Given the description of an element on the screen output the (x, y) to click on. 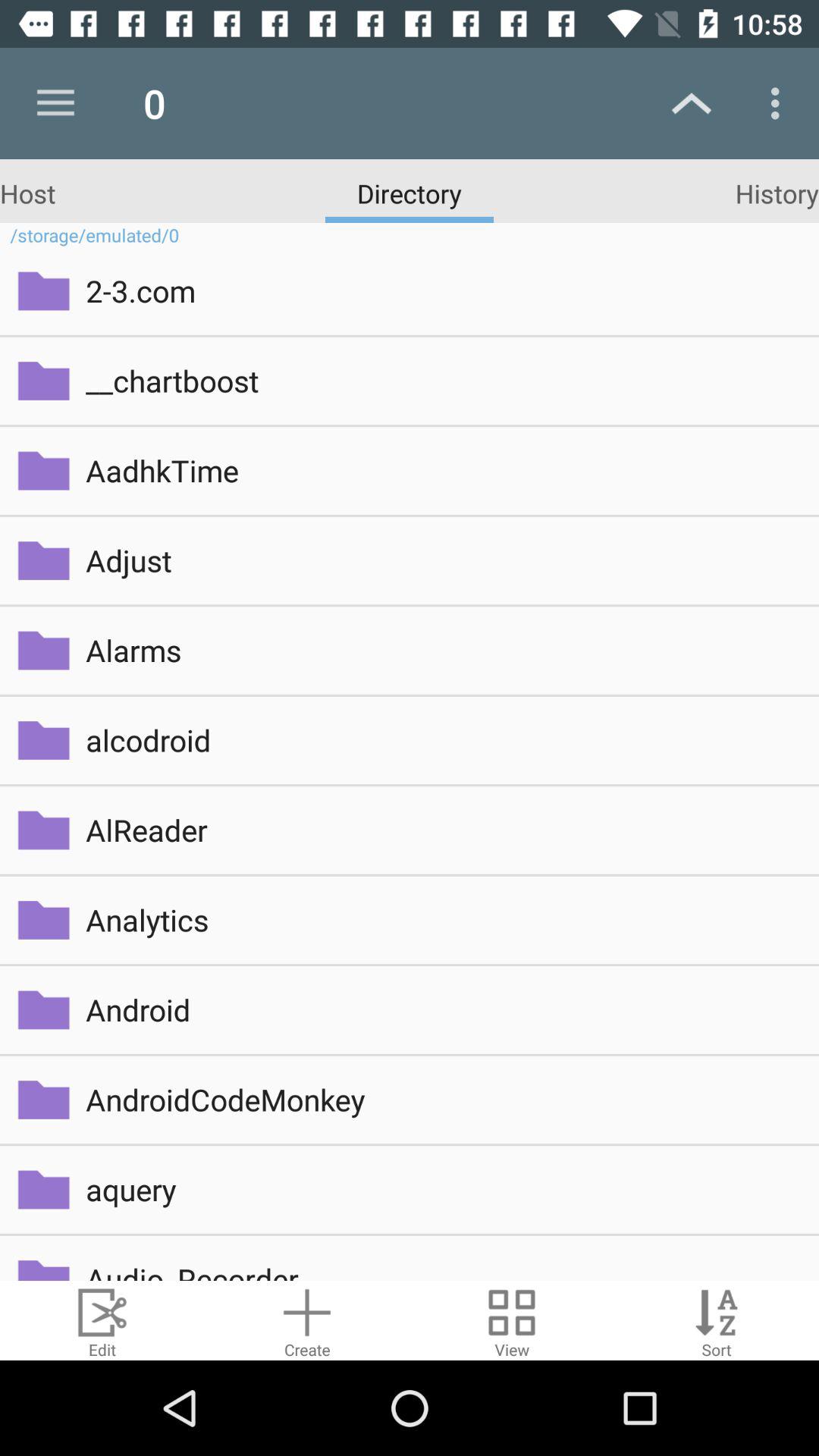
jump until alarms item (441, 650)
